Given the description of an element on the screen output the (x, y) to click on. 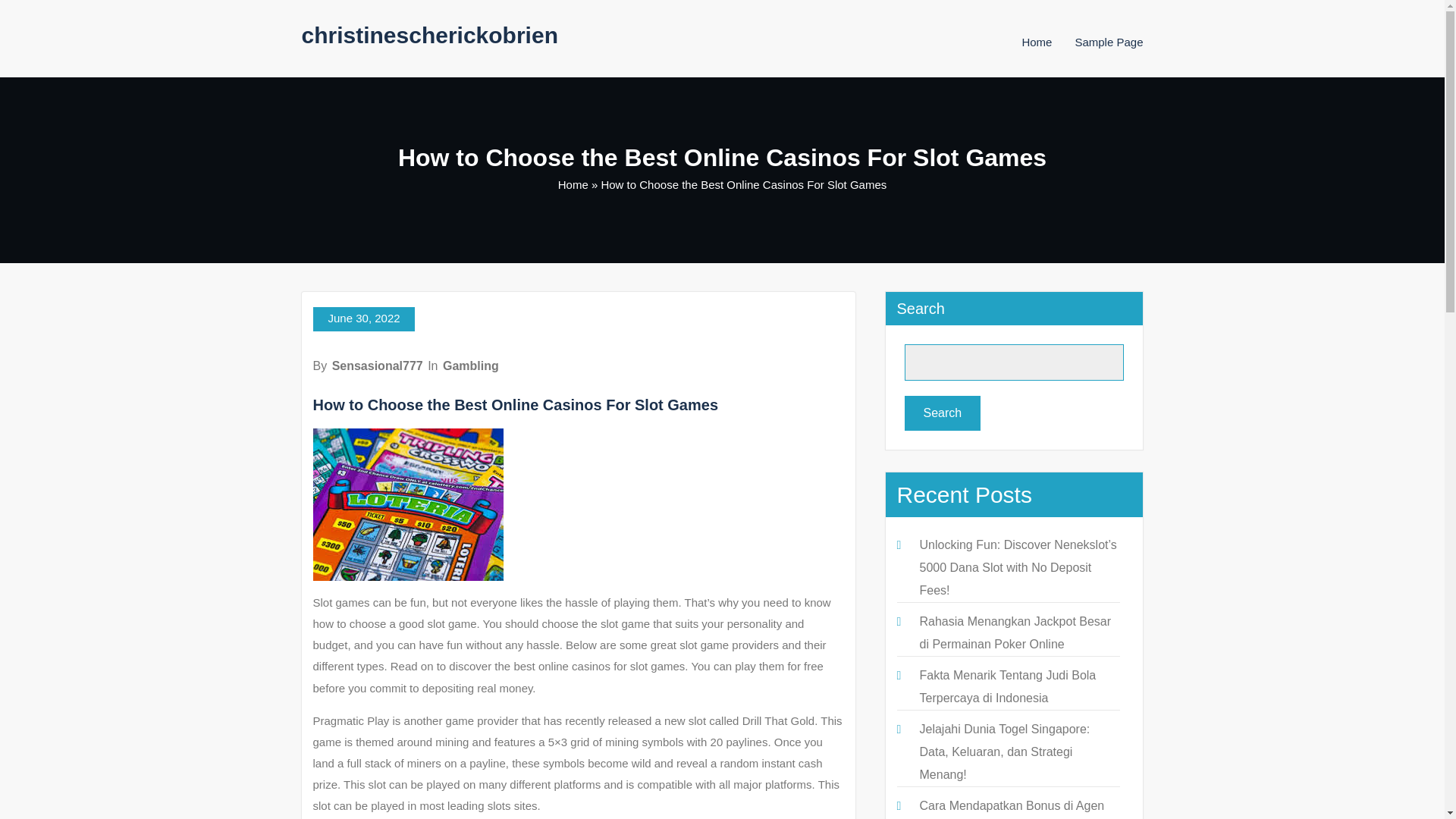
Gambling (470, 365)
Search (941, 412)
Sample Page (1108, 41)
June 30, 2022 (363, 319)
Fakta Menarik Tentang Judi Bola Terpercaya di Indonesia (1007, 686)
Cara Mendapatkan Bonus di Agen IDN Play (1010, 809)
Home (1036, 41)
Sensasional777 (377, 365)
Rahasia Menangkan Jackpot Besar di Permainan Poker Online (1014, 632)
christinescherickobrien (429, 34)
